Given the description of an element on the screen output the (x, y) to click on. 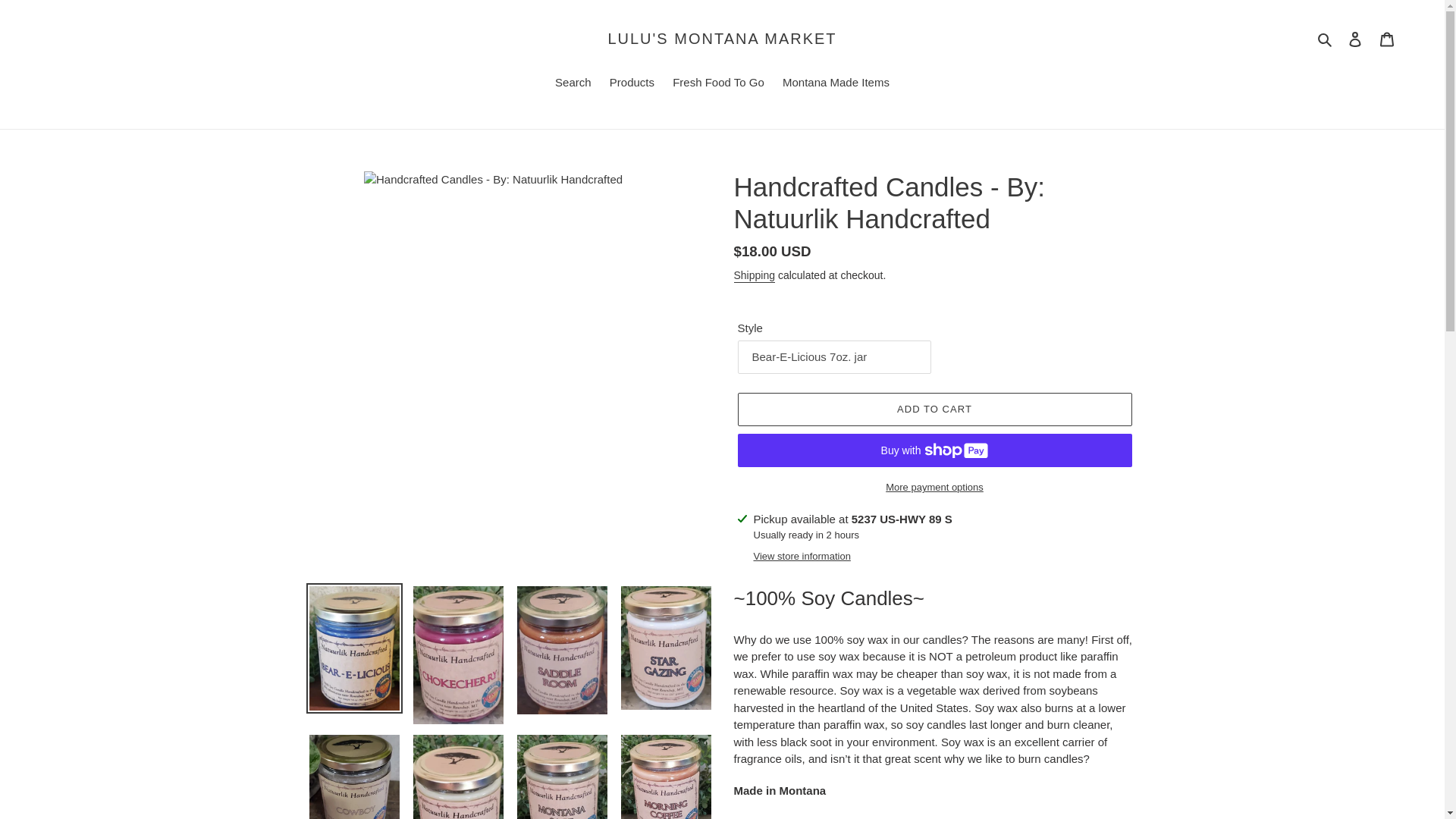
More payment options (933, 487)
Shipping (754, 275)
Log in (1355, 38)
Cart (1387, 38)
LULU'S MONTANA MARKET (721, 38)
ADD TO CART (933, 409)
Search (1326, 38)
Montana Made Items (835, 84)
Fresh Food To Go (718, 84)
View store information (802, 556)
Products (632, 84)
Search (572, 84)
